Given the description of an element on the screen output the (x, y) to click on. 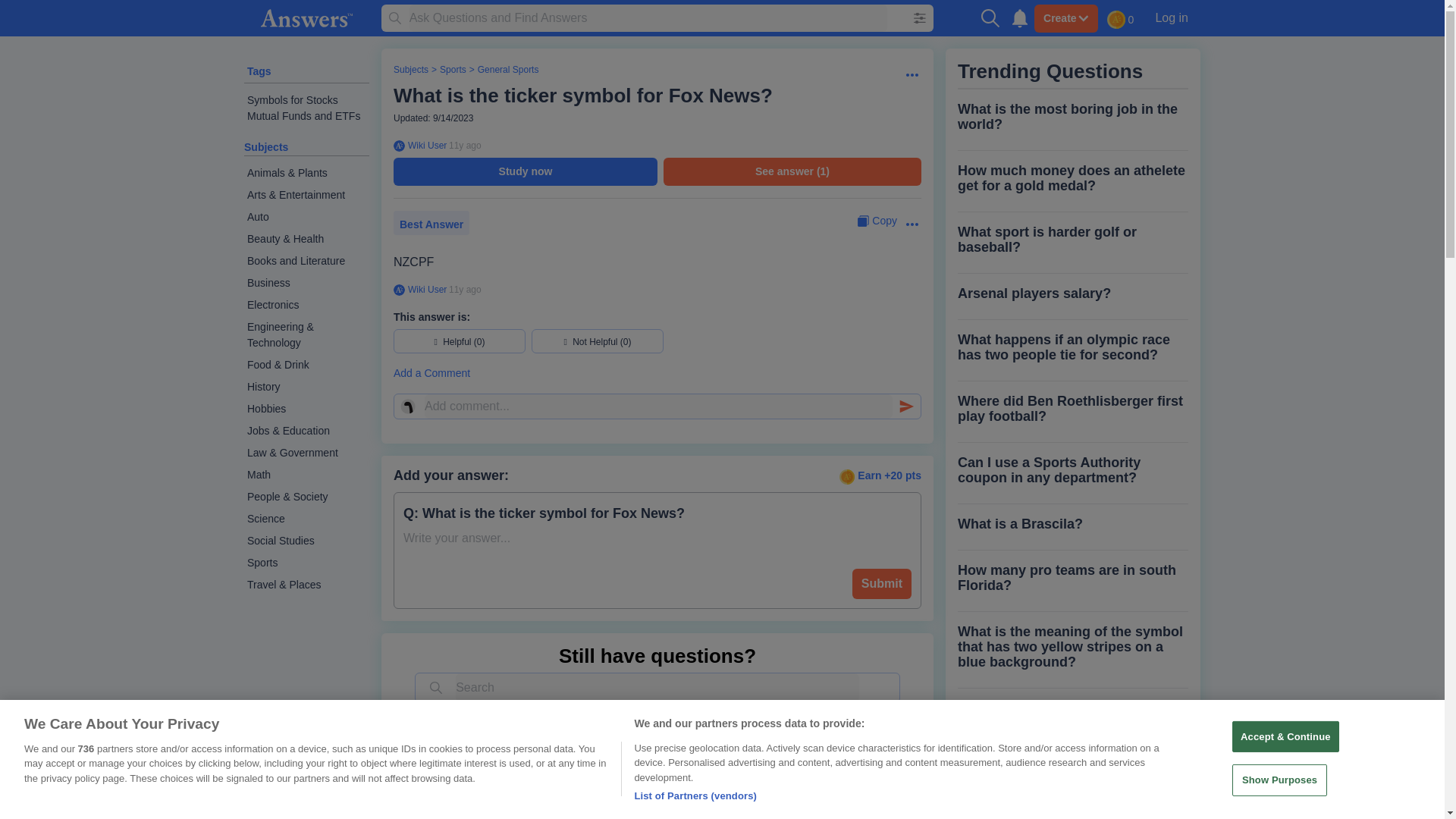
Science (306, 518)
Sports (306, 563)
Subjects (410, 69)
Electronics (306, 305)
Business (306, 282)
Auto (306, 217)
Add a Comment (657, 373)
Hobbies (306, 409)
Study now (525, 171)
What is the ticker symbol for Fox News? (583, 95)
History (306, 386)
Symbols for Stocks Mutual Funds and ETFs (306, 108)
Create (1065, 18)
2013-03-13 14:43:36 (464, 289)
General Sports (507, 69)
